Given the description of an element on the screen output the (x, y) to click on. 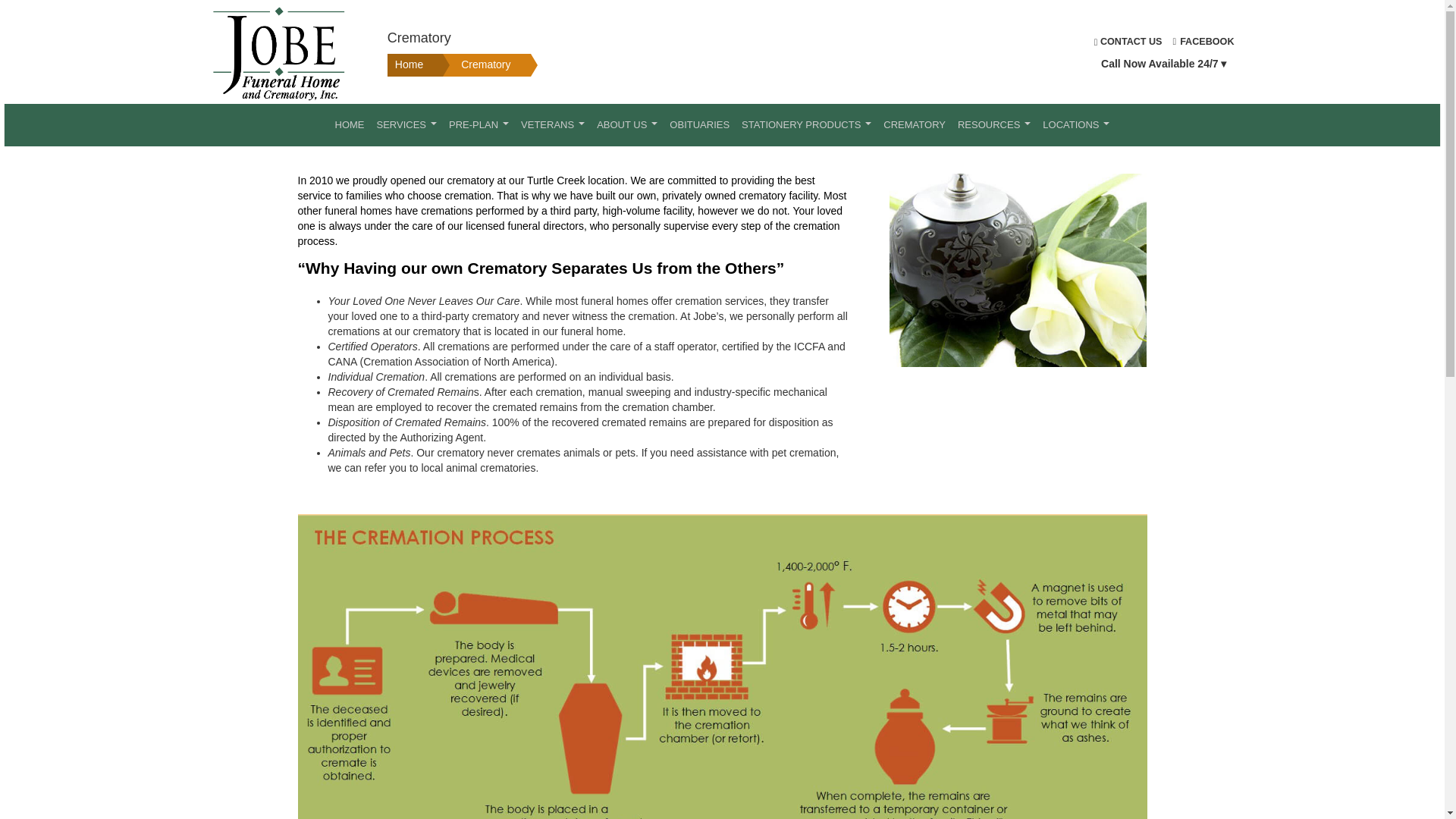
CONTACT US (1127, 41)
HOME (350, 125)
VETERANS... (553, 125)
ABOUT US... (627, 125)
SERVICES... (405, 125)
FACEBOOK (1203, 41)
PRE-PLAN... (478, 125)
Home (406, 65)
Crematory (469, 65)
